Given the description of an element on the screen output the (x, y) to click on. 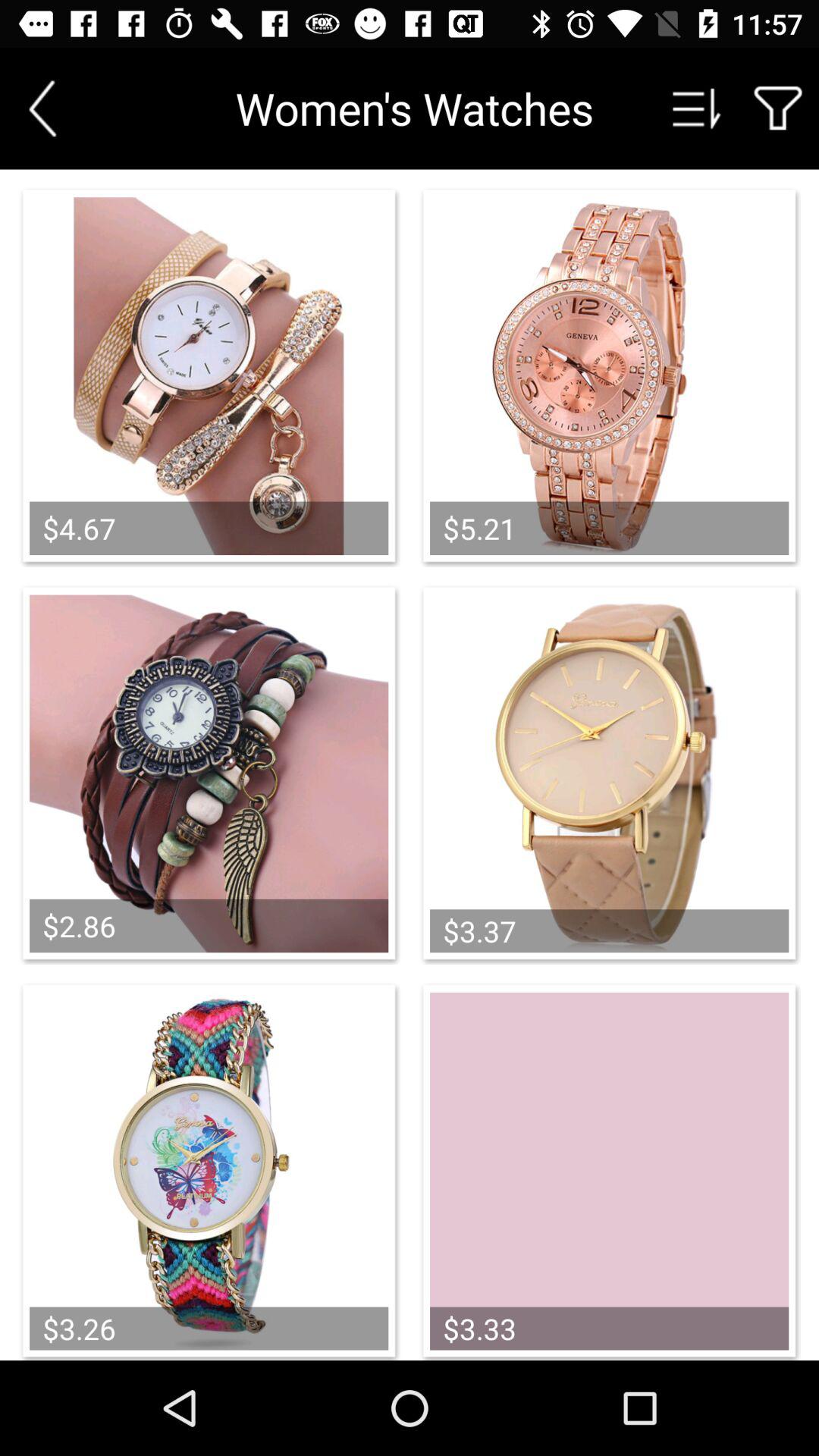
click to see menu (696, 108)
